Given the description of an element on the screen output the (x, y) to click on. 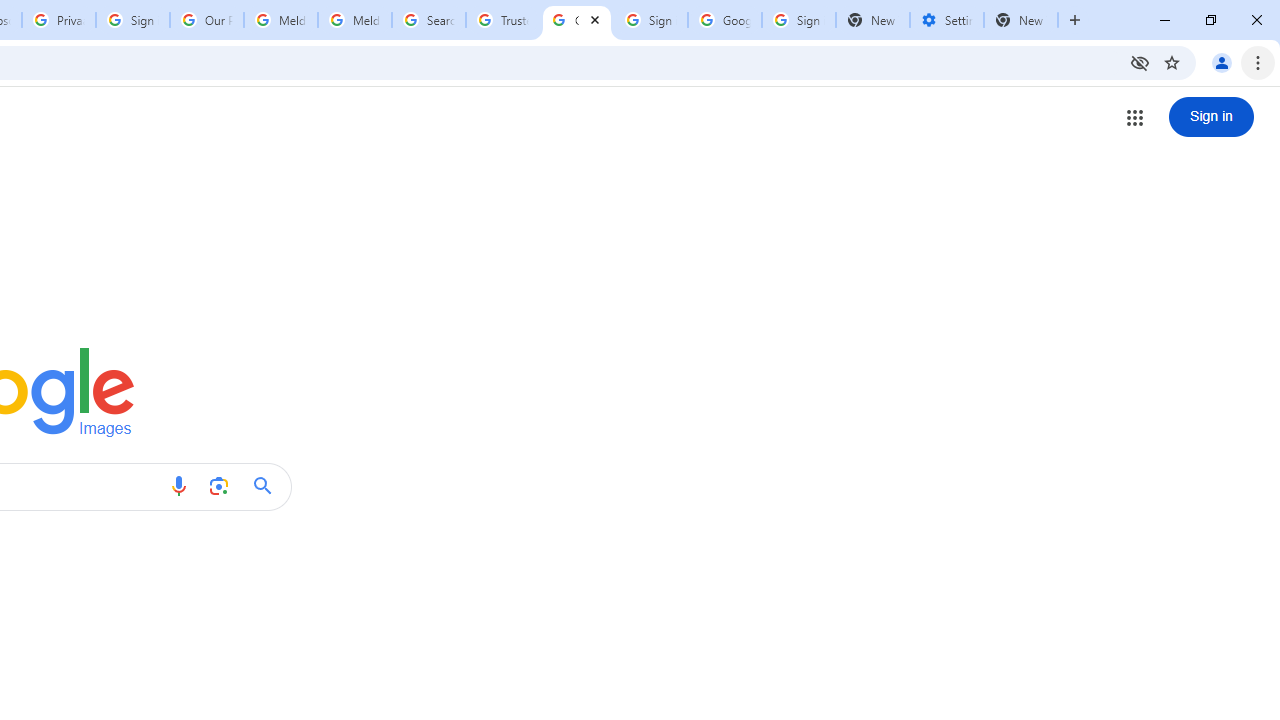
Search our Doodle Library Collection - Google Doodles (428, 20)
New Tab (1075, 20)
You (1221, 62)
Sign in - Google Accounts (133, 20)
Chrome (1260, 62)
Search by voice (178, 485)
Google Images (577, 20)
Sign in - Google Accounts (798, 20)
Sign in - Google Accounts (651, 20)
Settings - Addresses and more (947, 20)
